Given the description of an element on the screen output the (x, y) to click on. 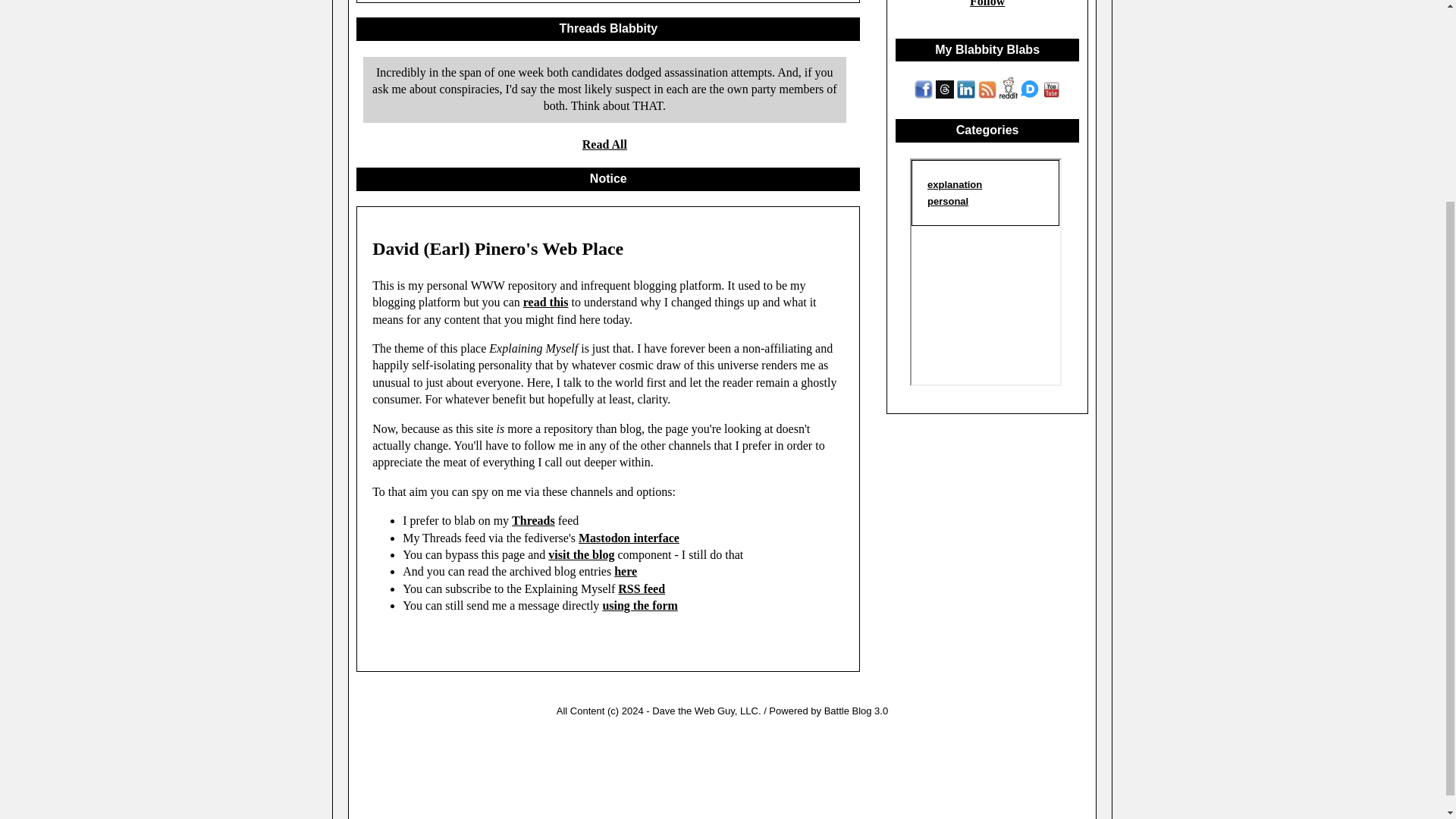
Read All (604, 144)
using the form (640, 604)
Threads (533, 520)
visit the blog (581, 554)
read this (545, 301)
here (625, 571)
Mastodon interface (628, 537)
RSS feed (641, 588)
